Given the description of an element on the screen output the (x, y) to click on. 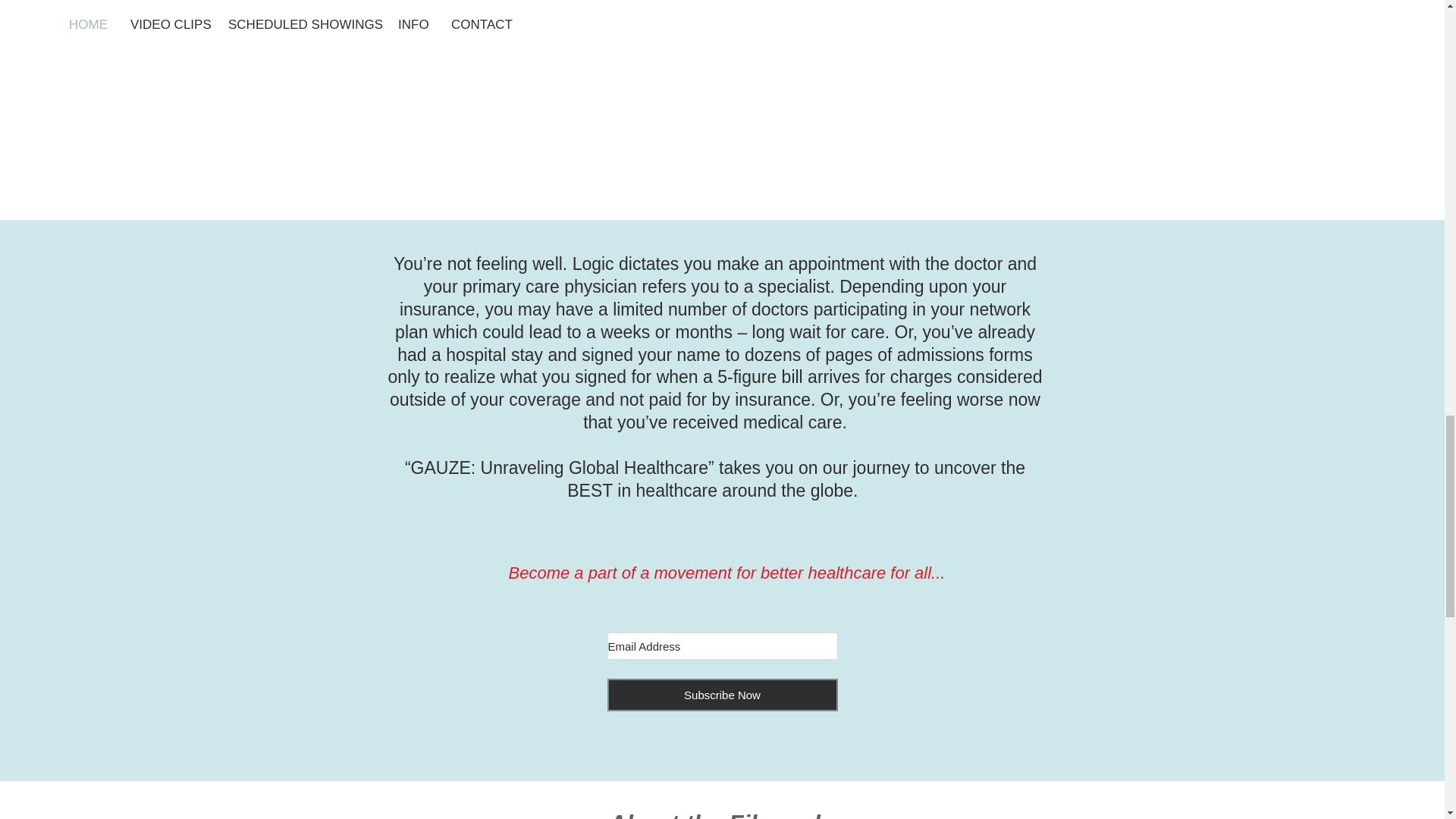
Subscribe Now (722, 694)
External Vimeo (722, 83)
